Given the description of an element on the screen output the (x, y) to click on. 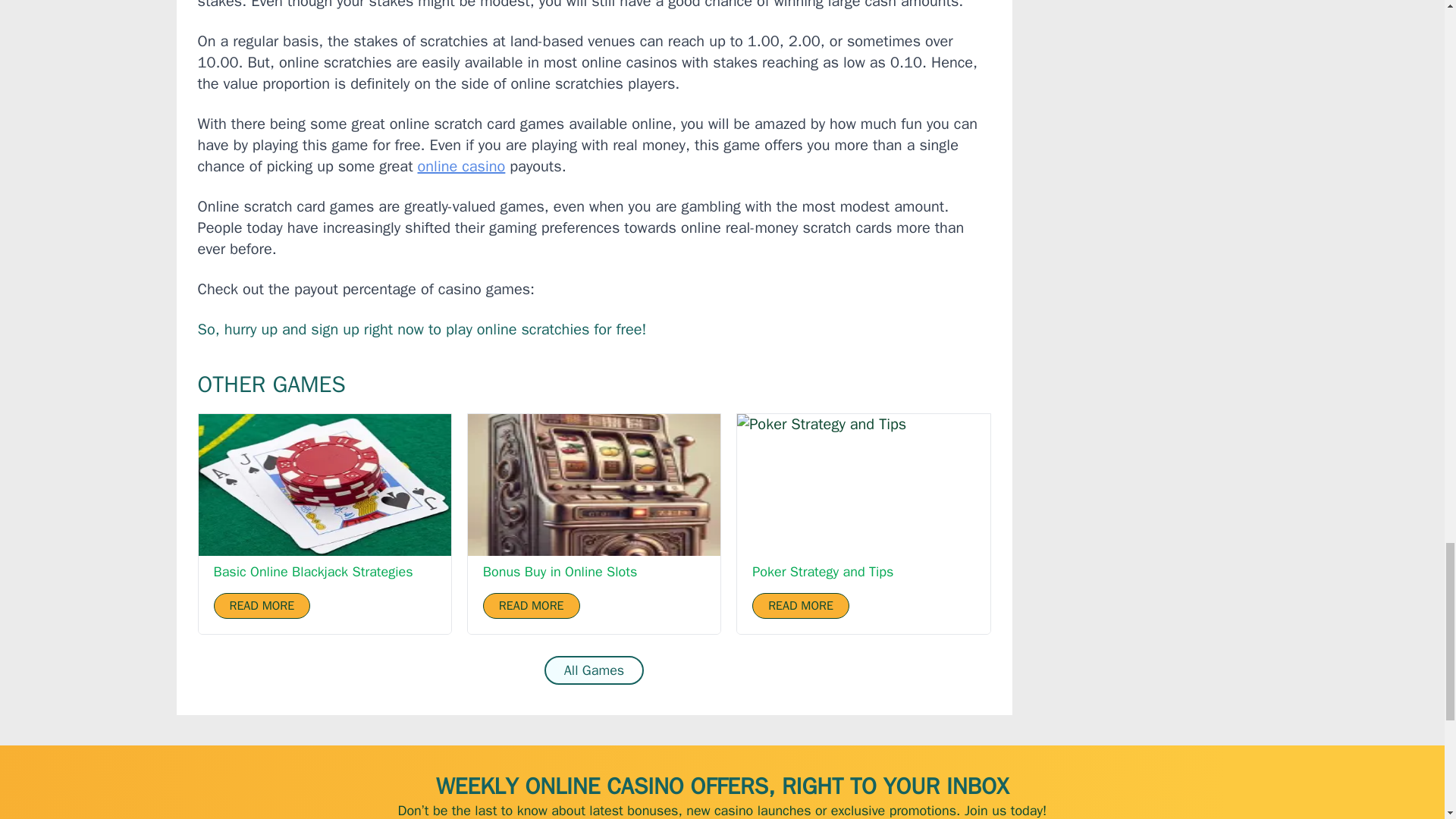
online casino (461, 166)
